Given the description of an element on the screen output the (x, y) to click on. 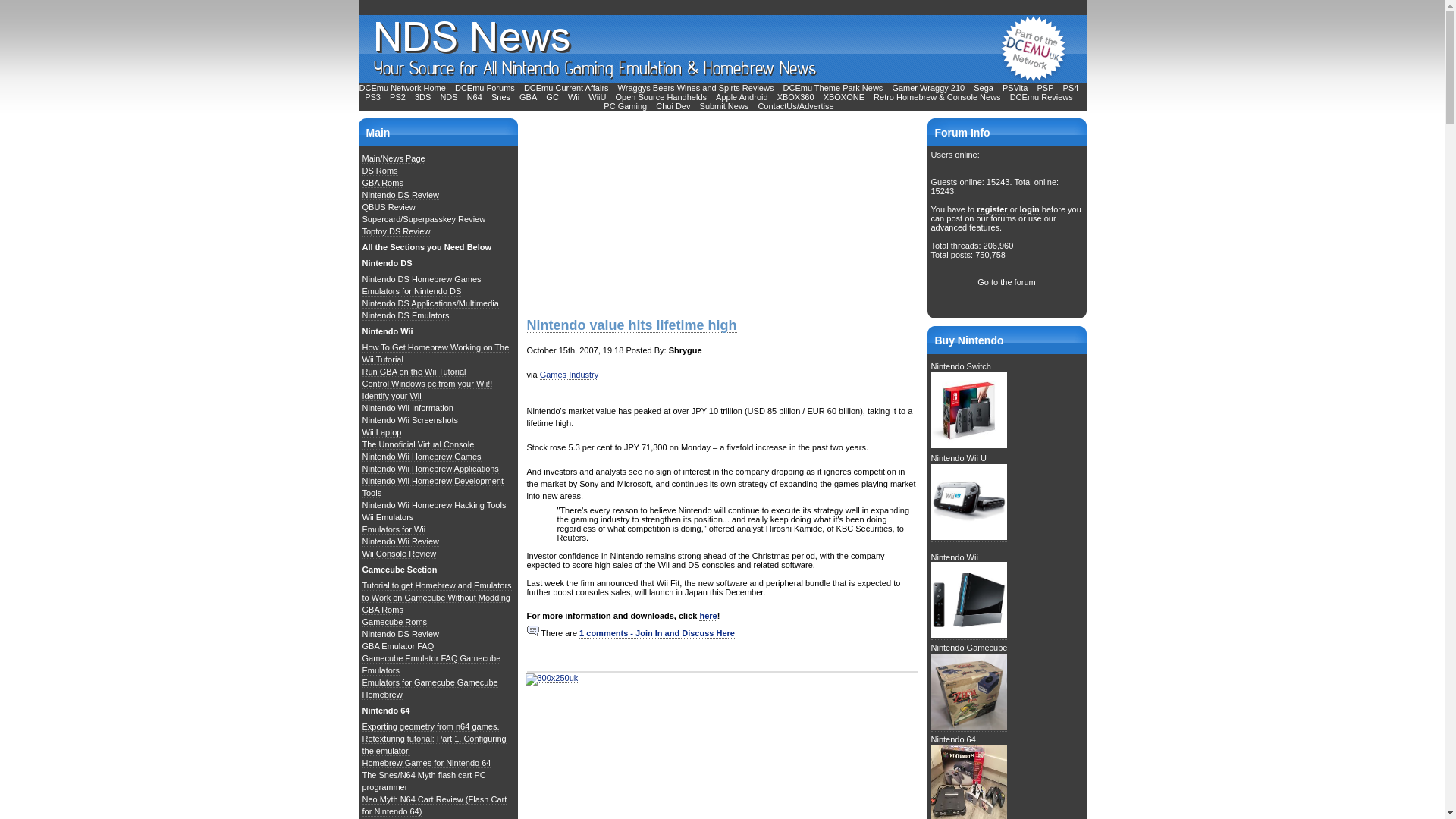
PS2 (398, 97)
GBA (528, 97)
QBUS Review (388, 207)
Toptoy DS Review (396, 231)
Nintendo DS Review (400, 194)
Snes (501, 97)
Wraggys Beers Wines and Spirts Reviews (695, 88)
GC (552, 97)
Nintendo DS Homebrew Games (421, 279)
Sega (983, 88)
